Given the description of an element on the screen output the (x, y) to click on. 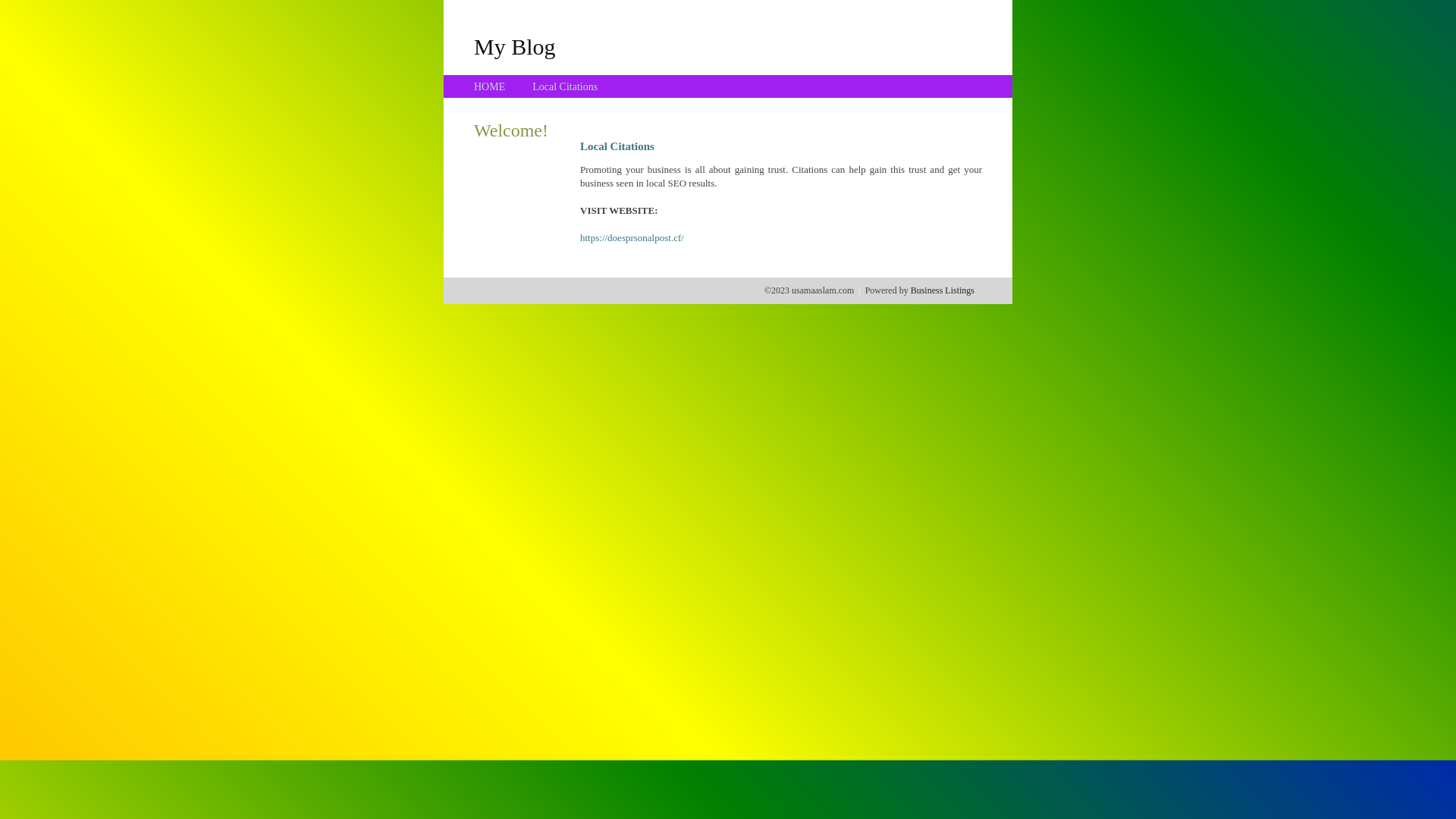
My Blog Element type: text (514, 46)
Local Citations Element type: text (564, 86)
https://doesprsonalpost.cf/ Element type: text (632, 237)
HOME Element type: text (489, 86)
Business Listings Element type: text (942, 290)
